Given the description of an element on the screen output the (x, y) to click on. 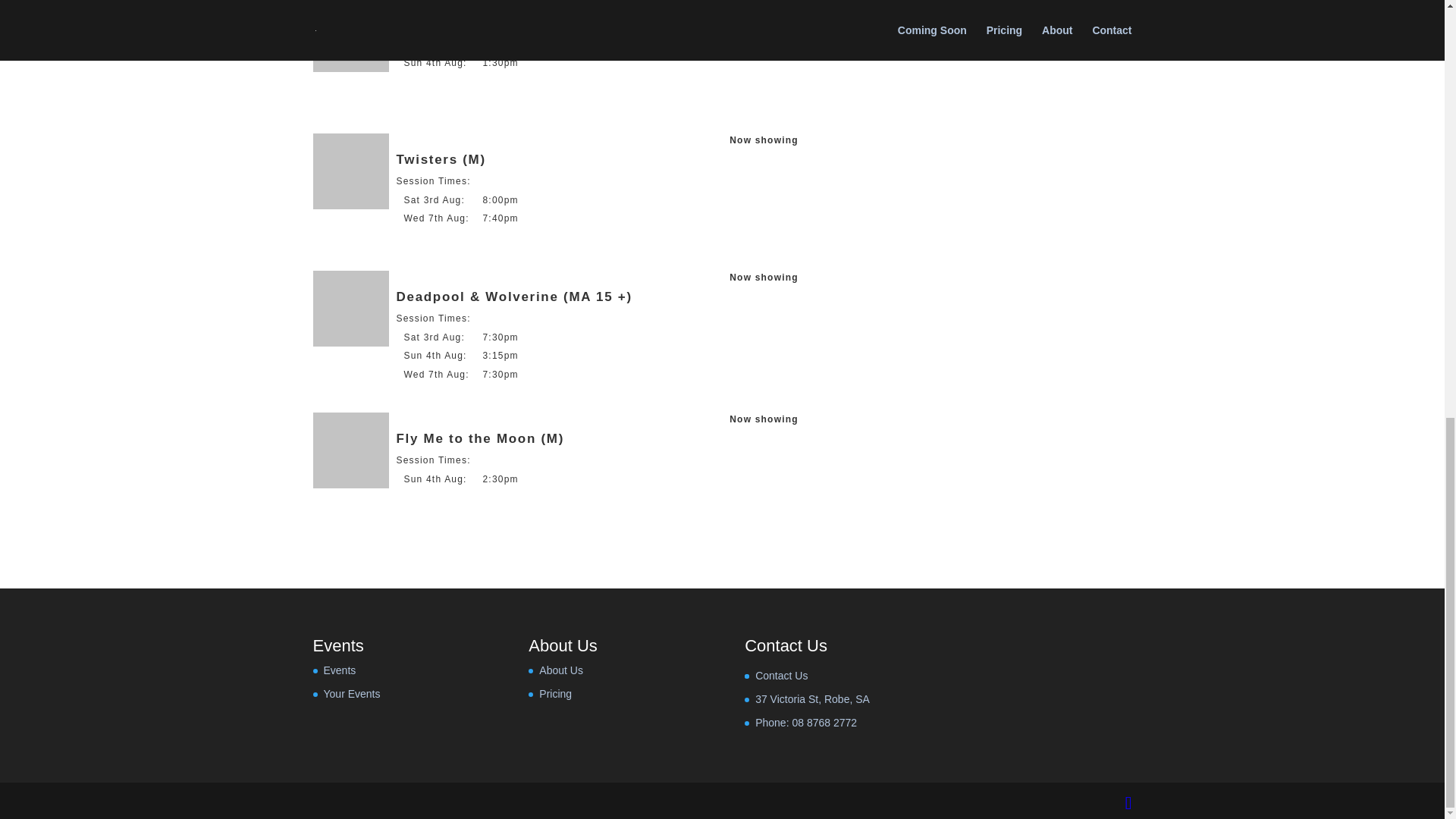
3:15pm (499, 355)
Twisters (350, 171)
8:00pm (499, 199)
7:30pm (499, 337)
7:30pm (499, 374)
Now showing (763, 419)
2:30pm (499, 479)
Events (339, 670)
Now showing (763, 276)
Despicable Me 4 (350, 36)
Now showing (763, 4)
Your Events (351, 693)
Fly Me to the Moon (350, 450)
1:30pm (499, 62)
7:40pm (499, 217)
